Given the description of an element on the screen output the (x, y) to click on. 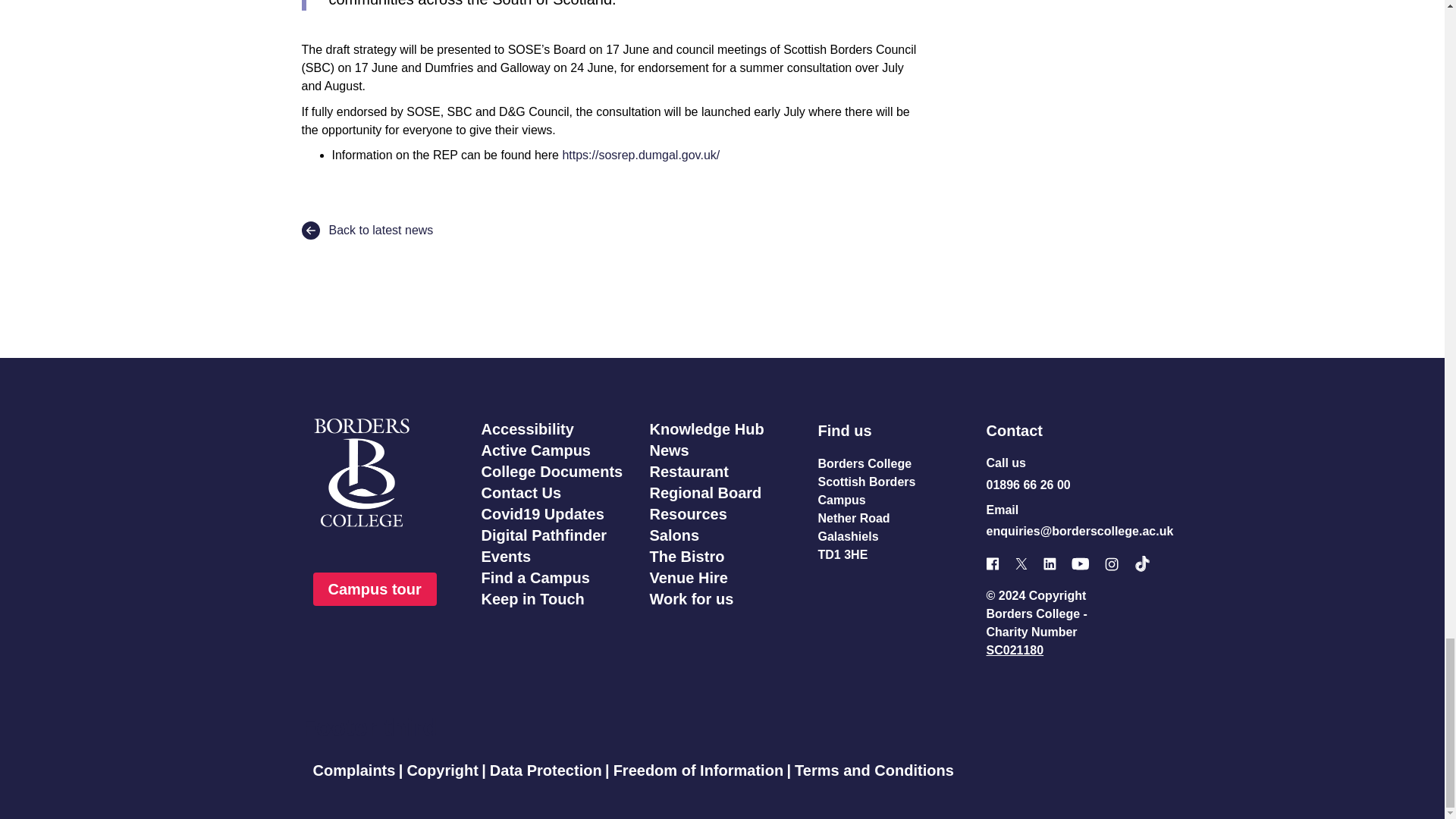
Back to latest news (367, 230)
Active Campus (535, 450)
Campus tour (374, 589)
Hair and Beauty Salons at Borders College (673, 535)
Link to our Active Campus information (535, 450)
The Bistro at Borders College (686, 556)
Events calendar (505, 556)
Covid19 updates and information (542, 514)
The Restaurant at Borders College (688, 471)
keep in touch with Borders College (531, 598)
Home (385, 472)
Accessibility (526, 428)
College Documents (551, 471)
A link to news (668, 450)
